Given the description of an element on the screen output the (x, y) to click on. 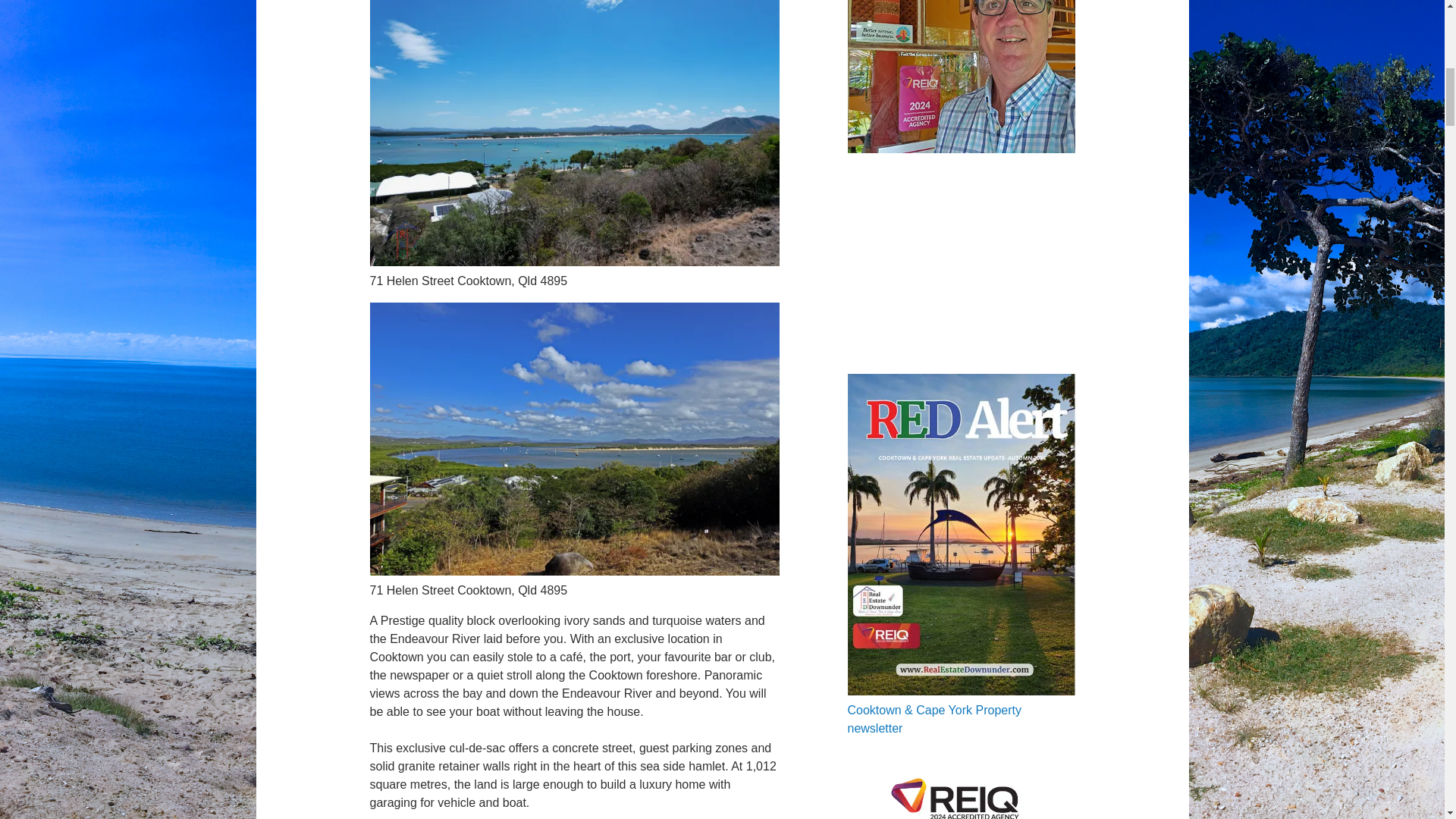
Cooktown short intro Webber Esplanade (961, 271)
